Given the description of an element on the screen output the (x, y) to click on. 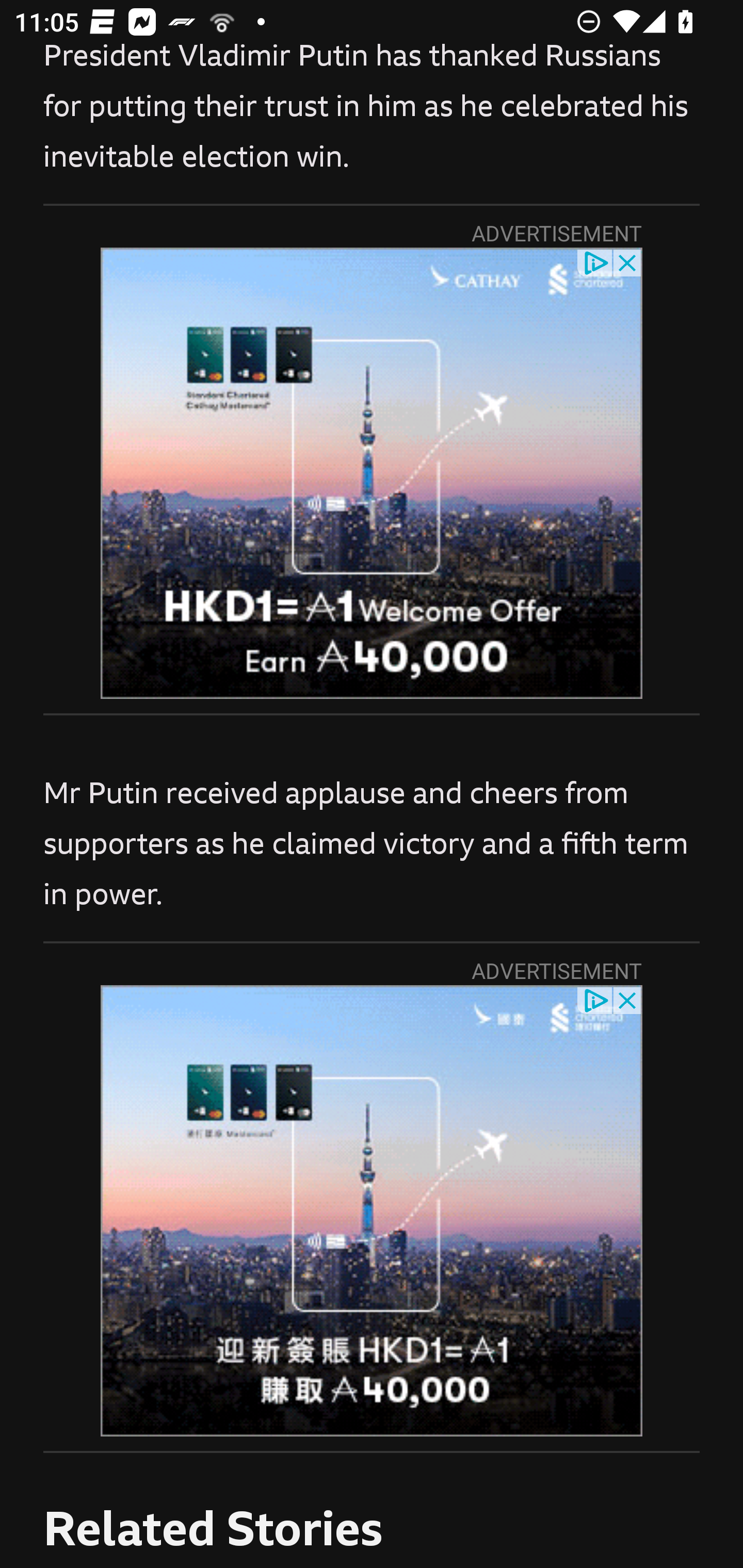
privacy_small (595, 261)
close_button (627, 261)
privacy_small (595, 999)
close_button (627, 999)
